Given the description of an element on the screen output the (x, y) to click on. 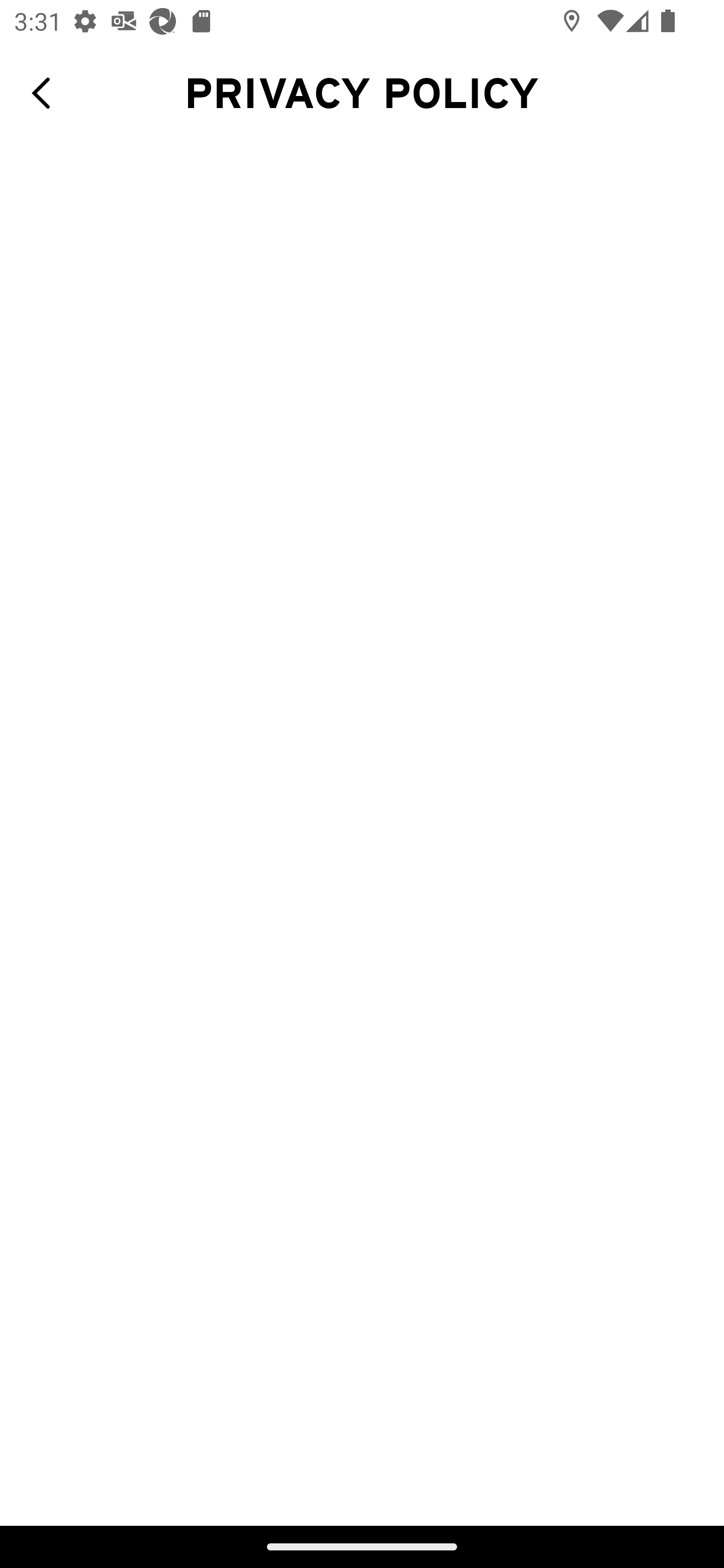
Close page. (48, 93)
